Given the description of an element on the screen output the (x, y) to click on. 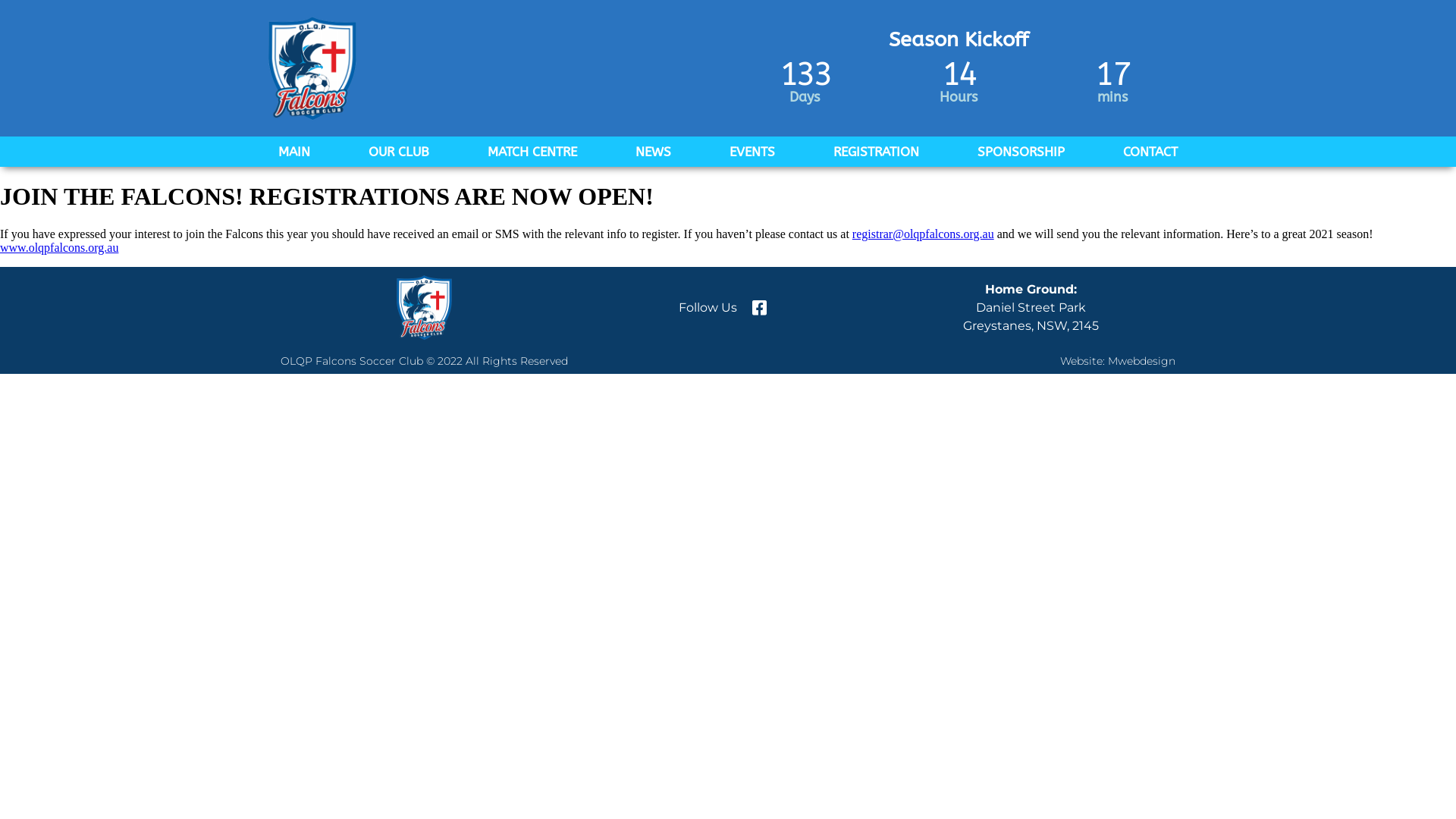
Website: Mwebdesign Element type: text (1117, 360)
OUR CLUB Element type: text (398, 151)
SPONSORSHIP Element type: text (1021, 151)
NEWS Element type: text (653, 151)
www.olqpfalcons.org.au Element type: text (59, 247)
REGISTRATION Element type: text (875, 151)
EVENTS Element type: text (752, 151)
MATCH CENTRE Element type: text (532, 151)
Logo-Shield-1 Element type: hover (311, 68)
registrar@olqpfalcons.org.au Element type: text (923, 233)
CONTACT Element type: text (1150, 151)
MAIN Element type: text (293, 151)
Logo-Shield-1 Element type: hover (423, 307)
